Given the description of an element on the screen output the (x, y) to click on. 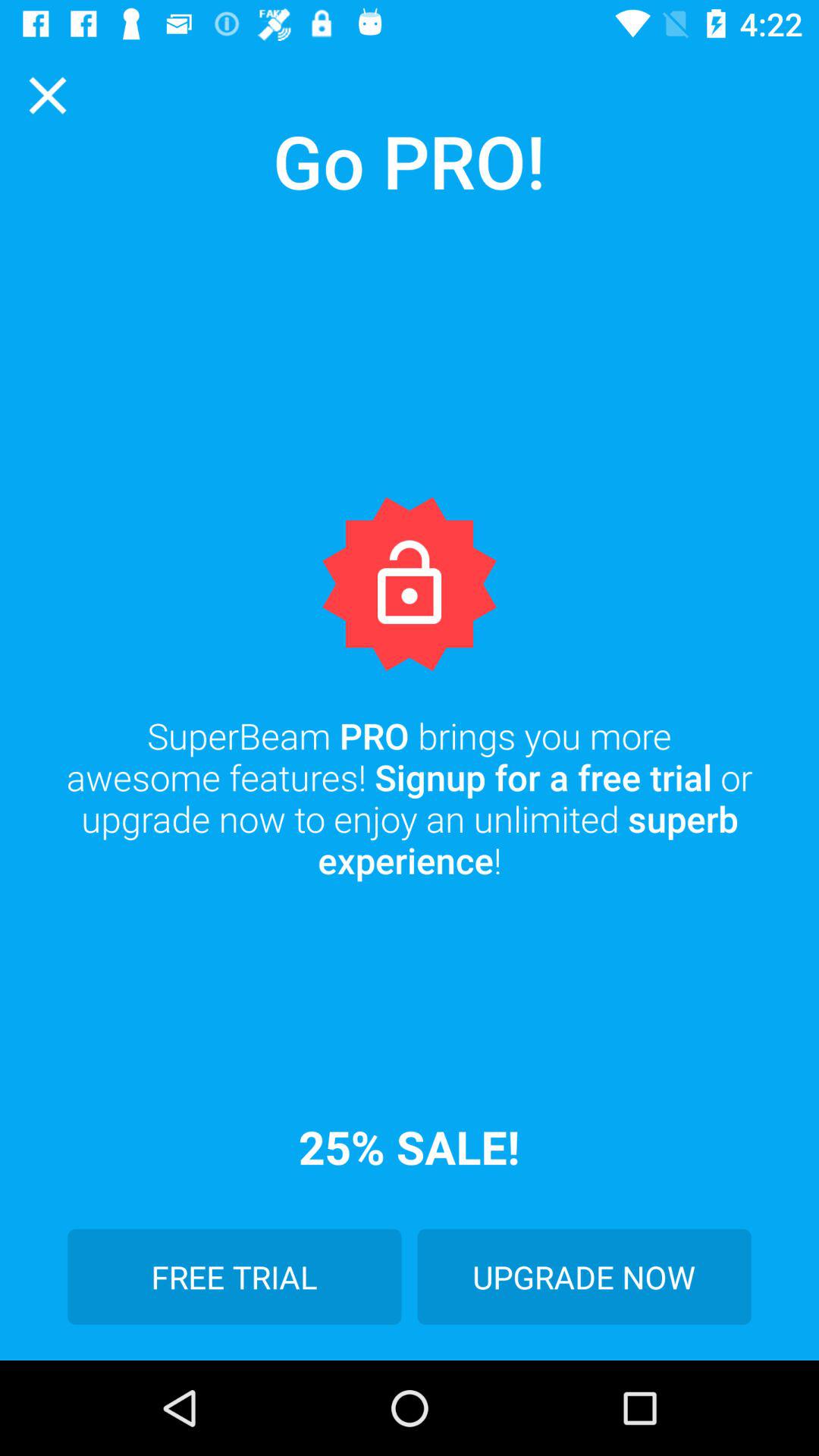
exit the screen (47, 95)
